Given the description of an element on the screen output the (x, y) to click on. 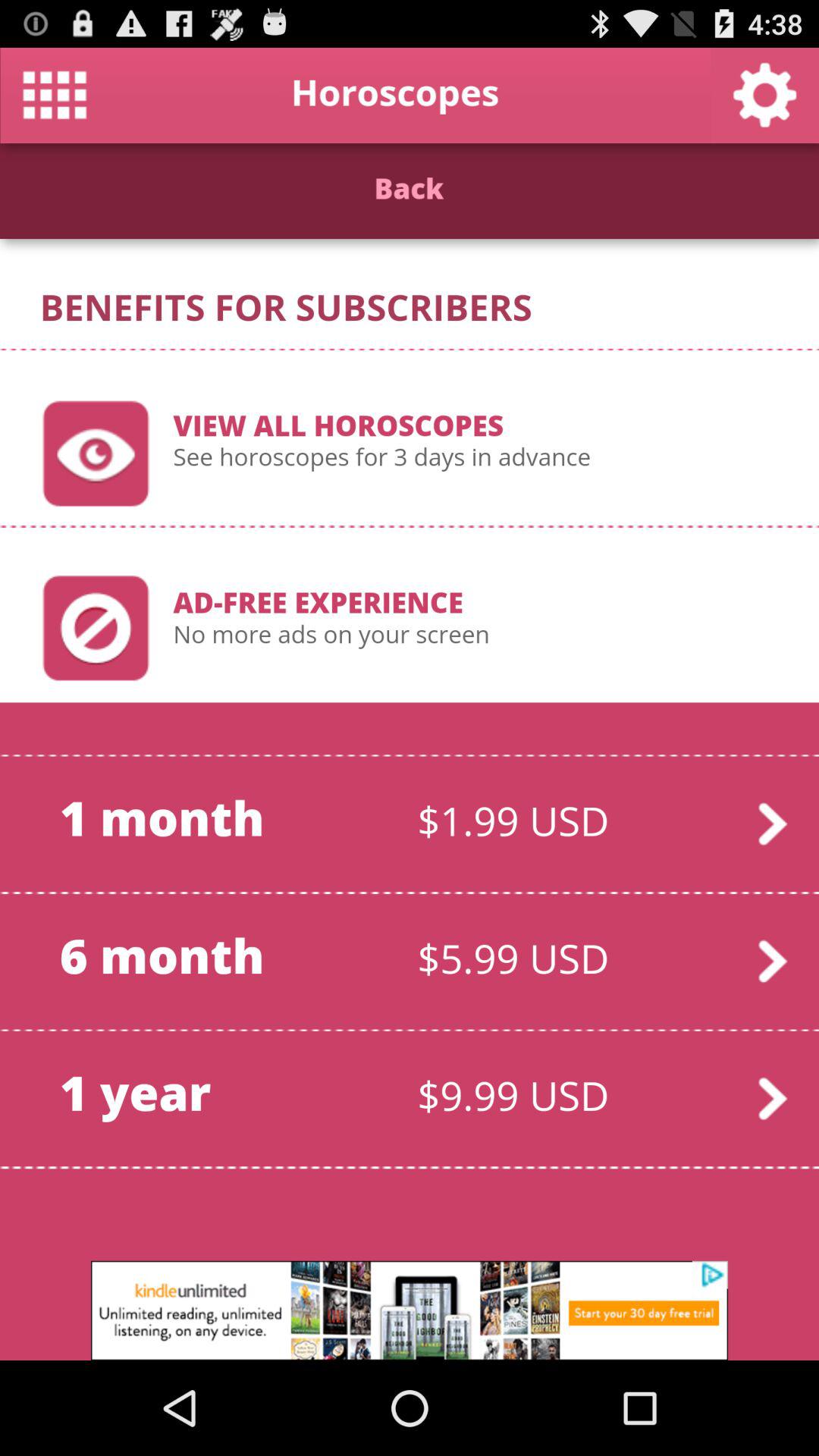
advertisement box (409, 1310)
